Given the description of an element on the screen output the (x, y) to click on. 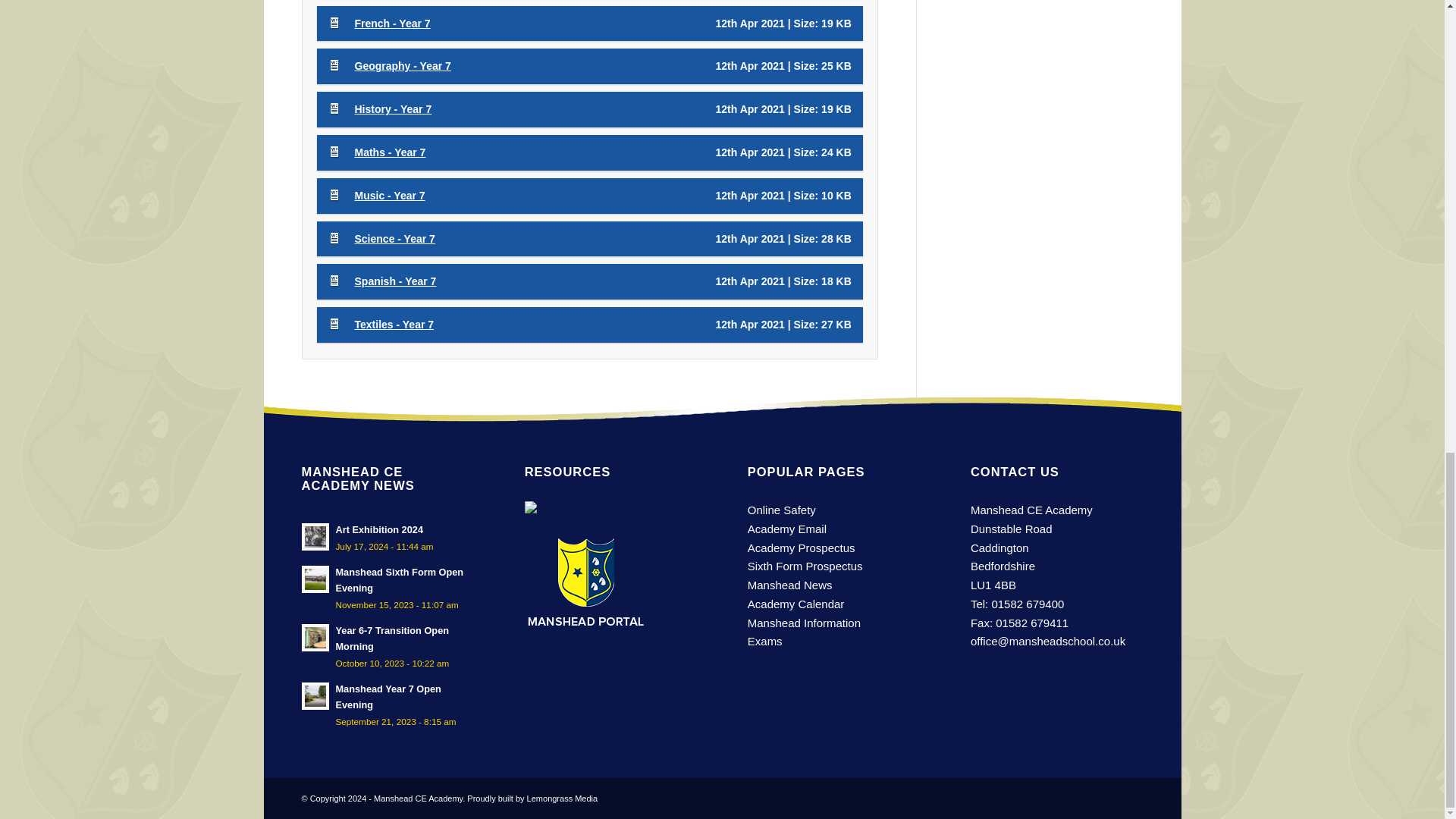
Manshead Year 7 Open Evening (387, 704)
Art Exhibition 2024 (387, 537)
Year 6-7 Transition Open Morning (387, 645)
Manshead Sixth Form Open Evening (387, 587)
